Given the description of an element on the screen output the (x, y) to click on. 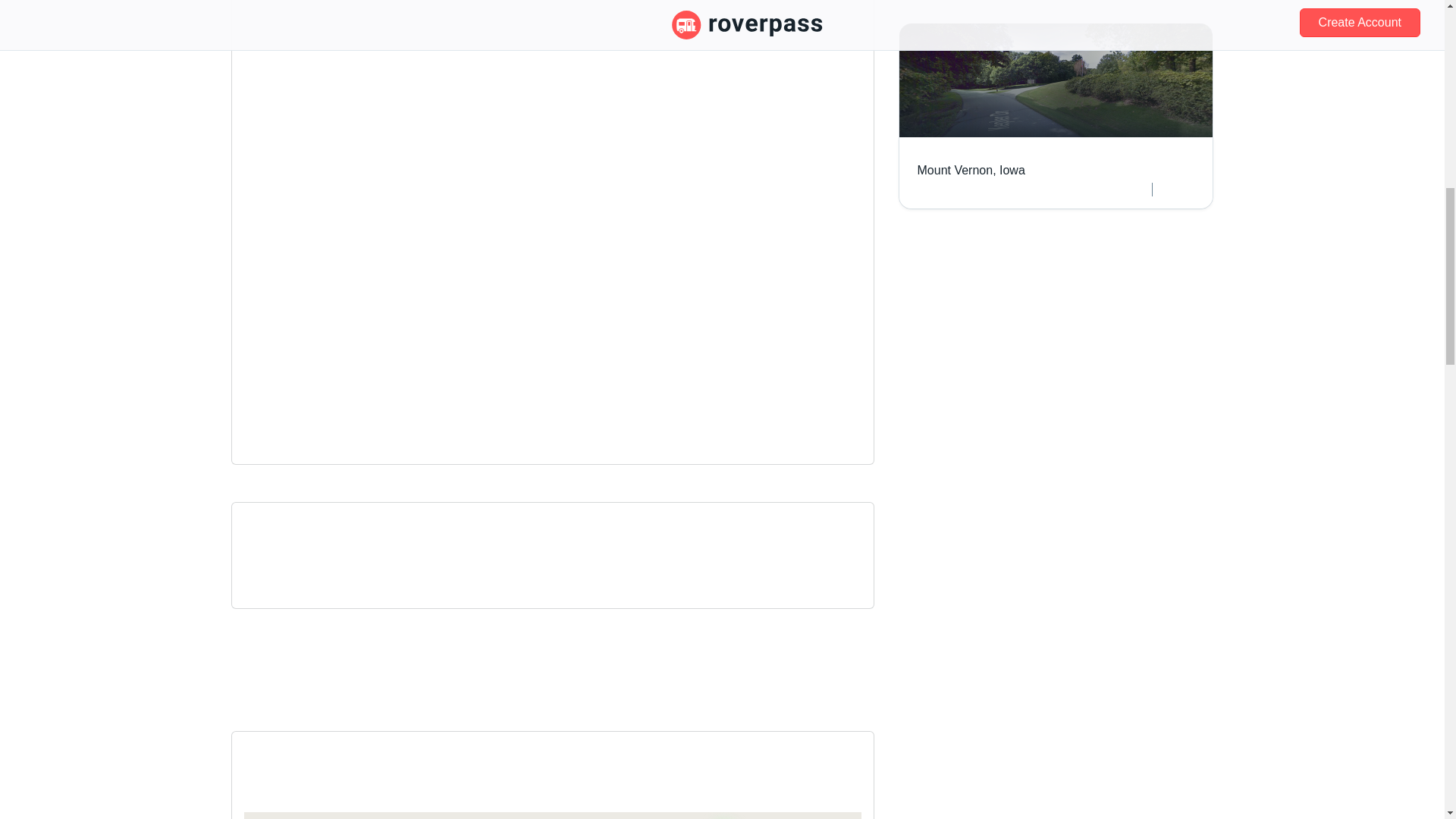
3340 Blackhawk Avenue NW, Oxford, IA, 52322 (552, 5)
3340 Blackhawk Avenue NW, Oxford, IA, 52322 (552, 5)
